Given the description of an element on the screen output the (x, y) to click on. 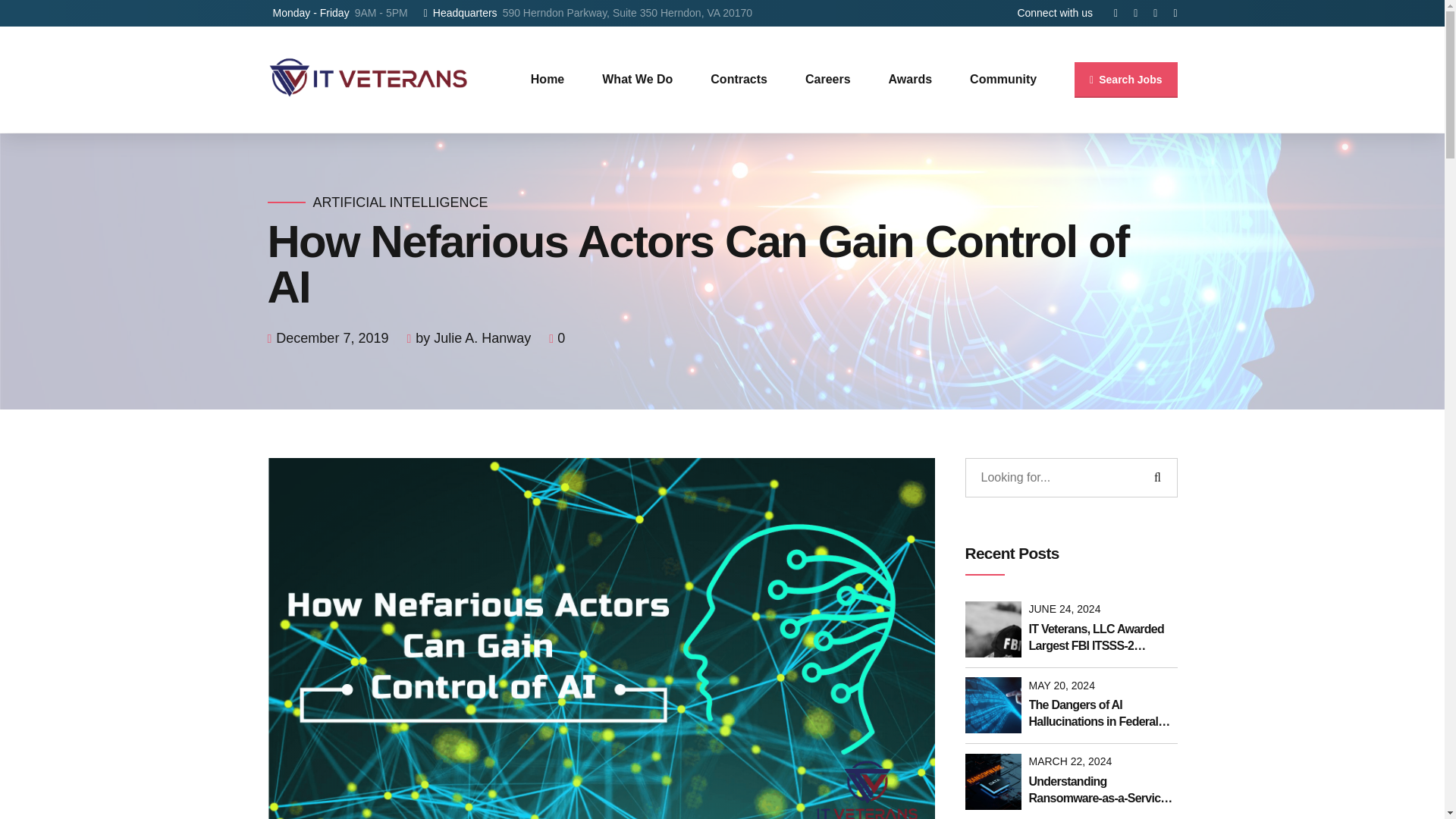
The Dangers of AI Hallucinations in Federal Data Streams (1101, 713)
Headquarters590 Herndon Parkway, Suite 350 Herndon, VA 20170 (587, 13)
Search Jobs (1125, 79)
ARTIFICIAL INTELLIGENCE (400, 202)
by Julie A. Hanway (472, 338)
Search Jobs (1125, 79)
Understanding Ransomware-as-a-Service Dangers (1101, 790)
